Given the description of an element on the screen output the (x, y) to click on. 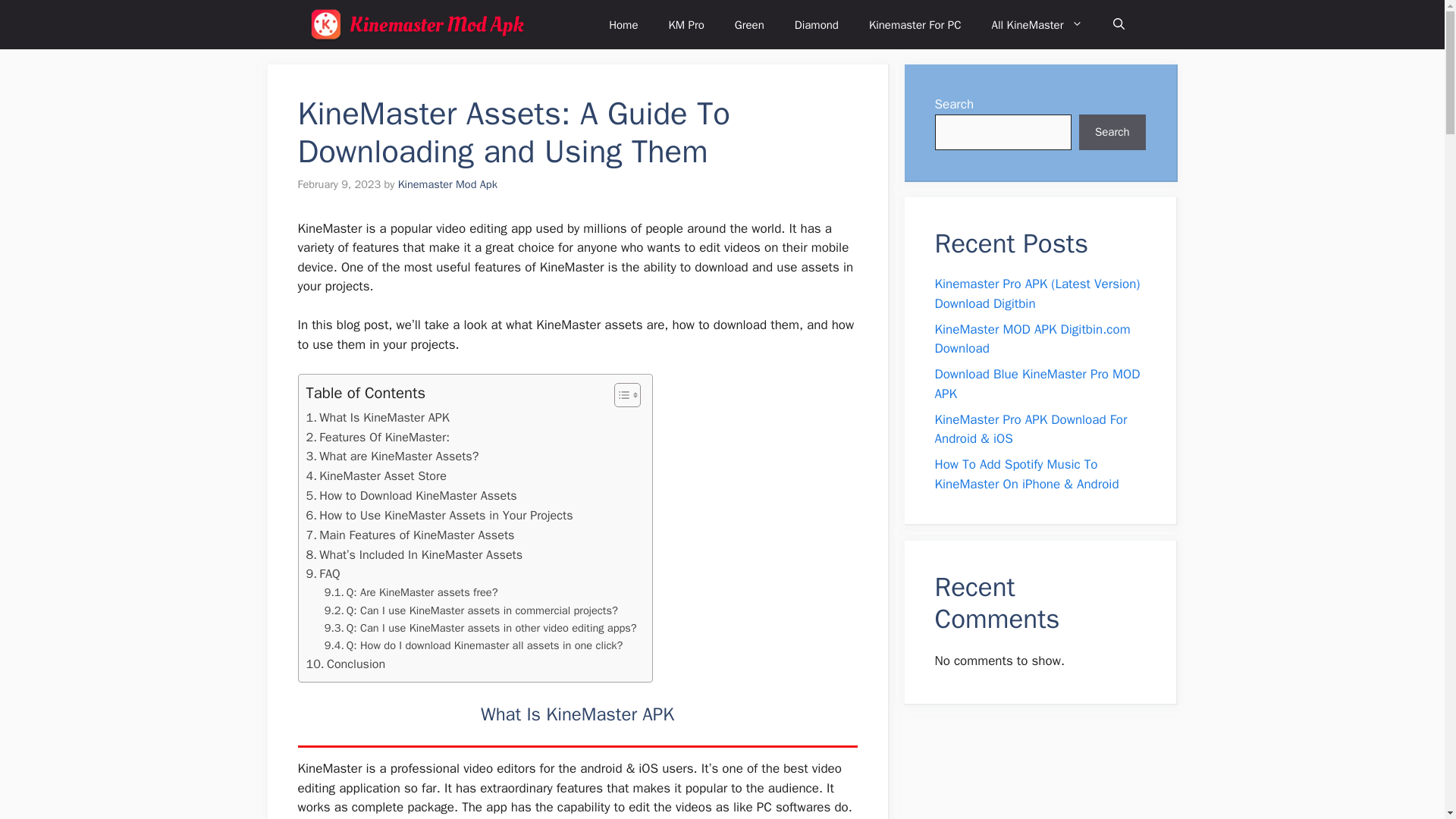
Q: Can I use KineMaster assets in commercial projects? (470, 610)
View all posts by Kinemaster Mod Apk (447, 183)
Diamond (815, 23)
Main Features of KineMaster Assets (410, 535)
Home (623, 23)
KineMaster Asset Store (375, 476)
How to Download KineMaster Assets (410, 496)
Features Of KineMaster: (377, 437)
Kinemaster For PC (914, 23)
Main Features of KineMaster Assets (410, 535)
Conclusion (345, 664)
KineMaster Pro MOD APK  (421, 24)
KM Pro (686, 23)
What Is KineMaster APK (377, 417)
How to Download KineMaster Assets (410, 496)
